Given the description of an element on the screen output the (x, y) to click on. 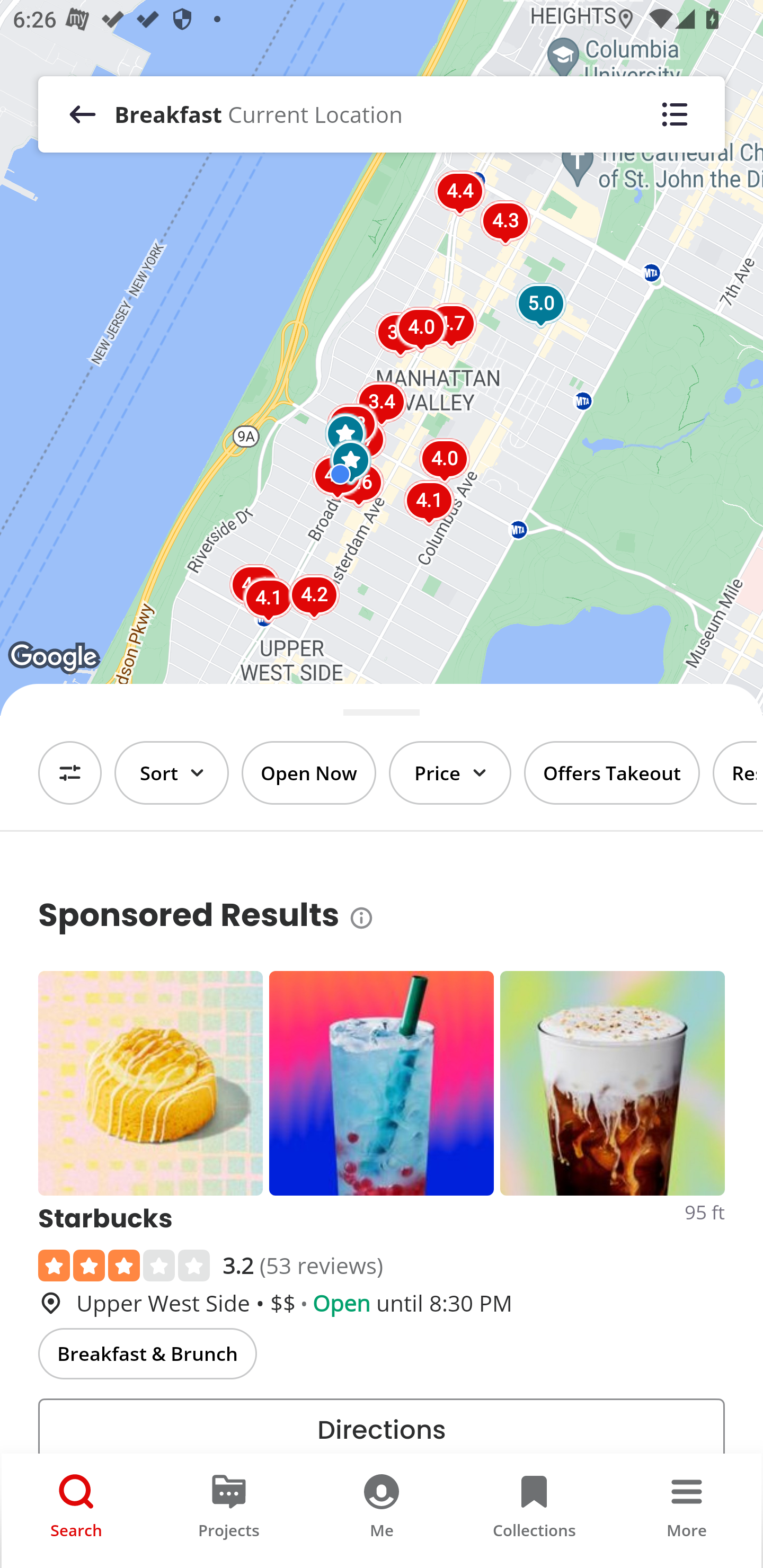
See all filters (69, 772)
